Given the description of an element on the screen output the (x, y) to click on. 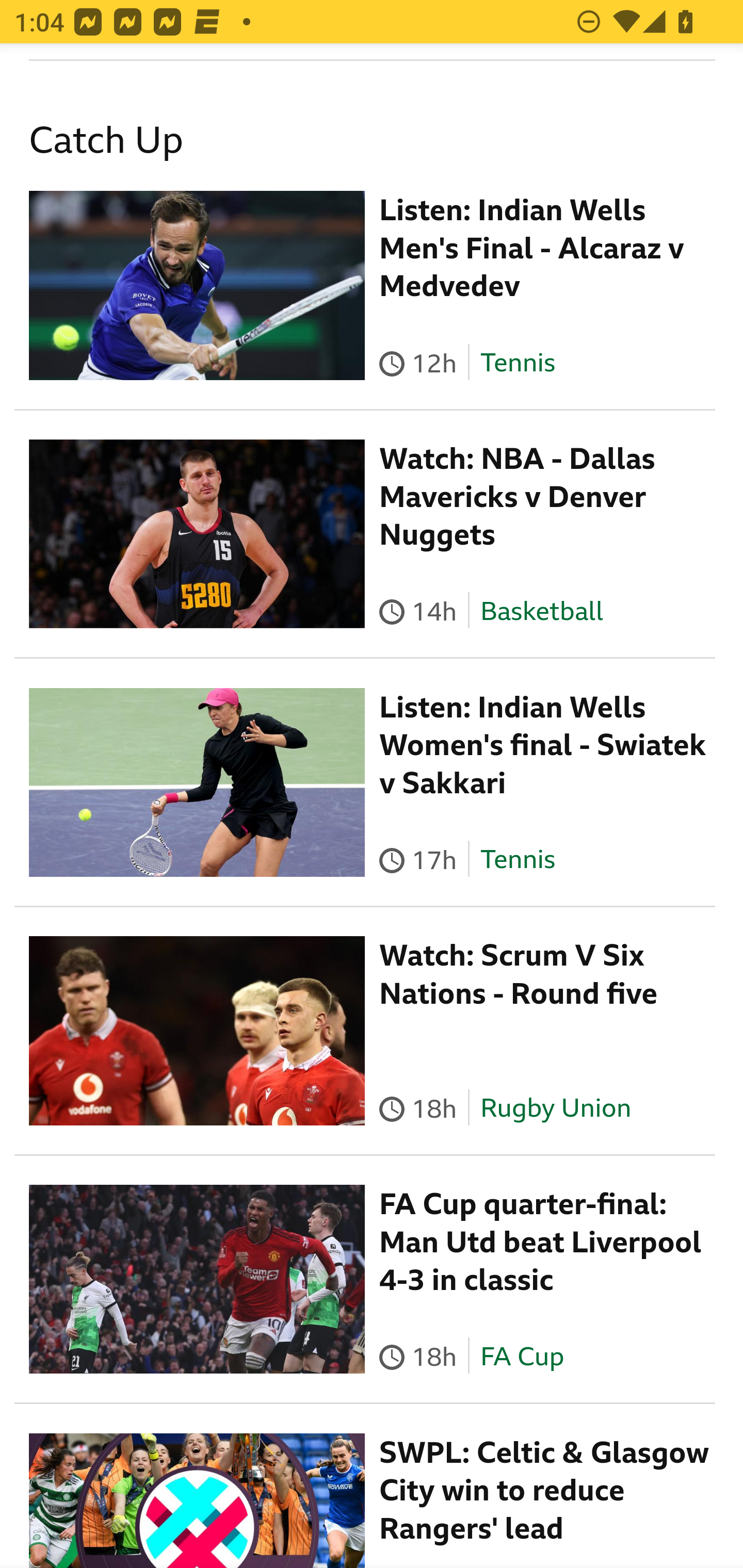
Tennis (517, 364)
Watch: NBA - Dallas Mavericks v Denver Nuggets (517, 497)
Basketball (541, 611)
Tennis (517, 861)
Watch: Scrum V Six Nations - Round five (518, 975)
Rugby Union (555, 1109)
FA Cup (521, 1356)
